Given the description of an element on the screen output the (x, y) to click on. 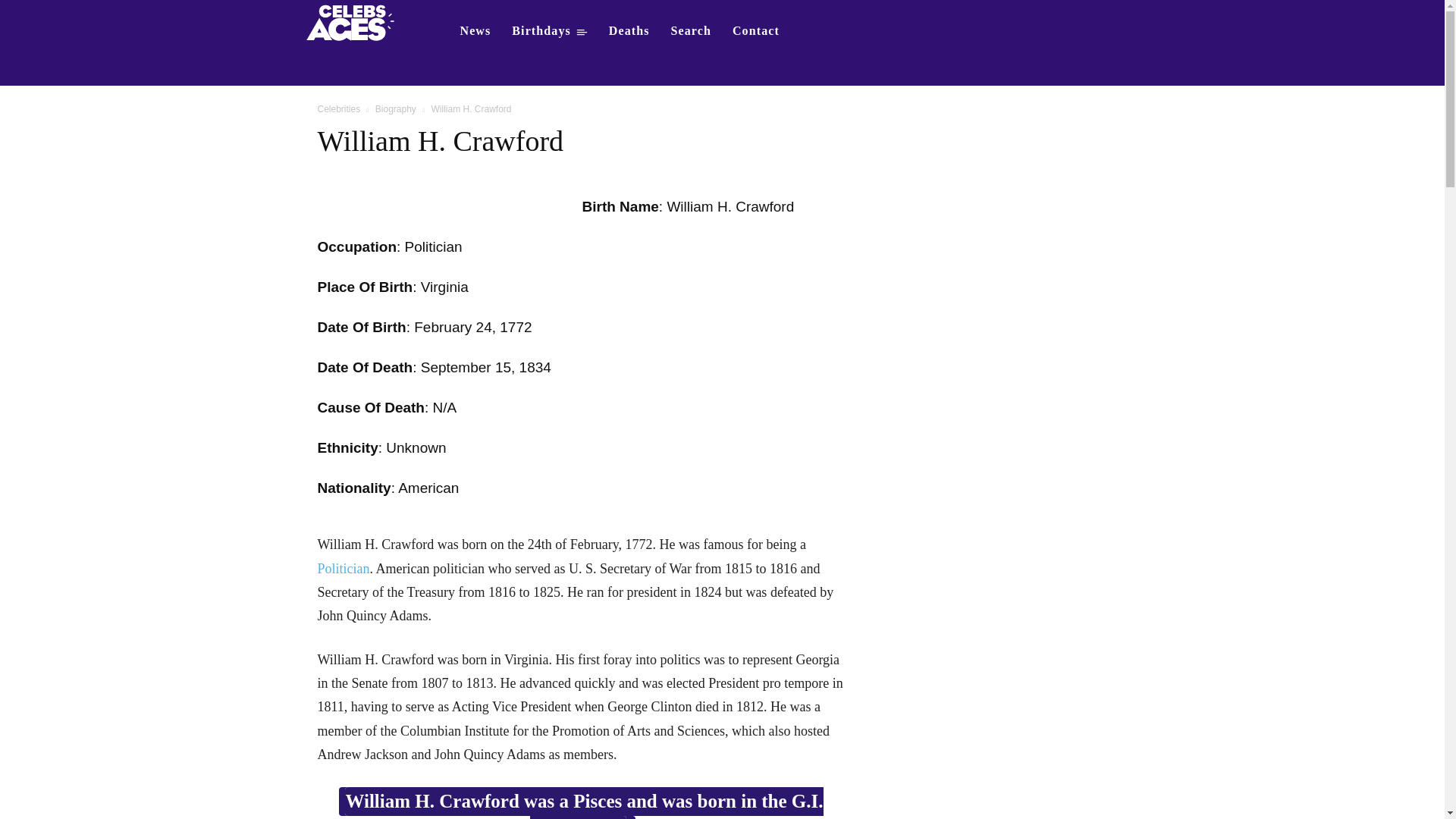
Birthdays (548, 31)
Who is dating who (354, 21)
Politician (343, 568)
24 (484, 326)
Biography (395, 109)
Search (691, 31)
Deaths (629, 31)
Celebs News (474, 31)
News (474, 31)
Celebrities (338, 109)
1772 (515, 326)
Contact (756, 31)
